Given the description of an element on the screen output the (x, y) to click on. 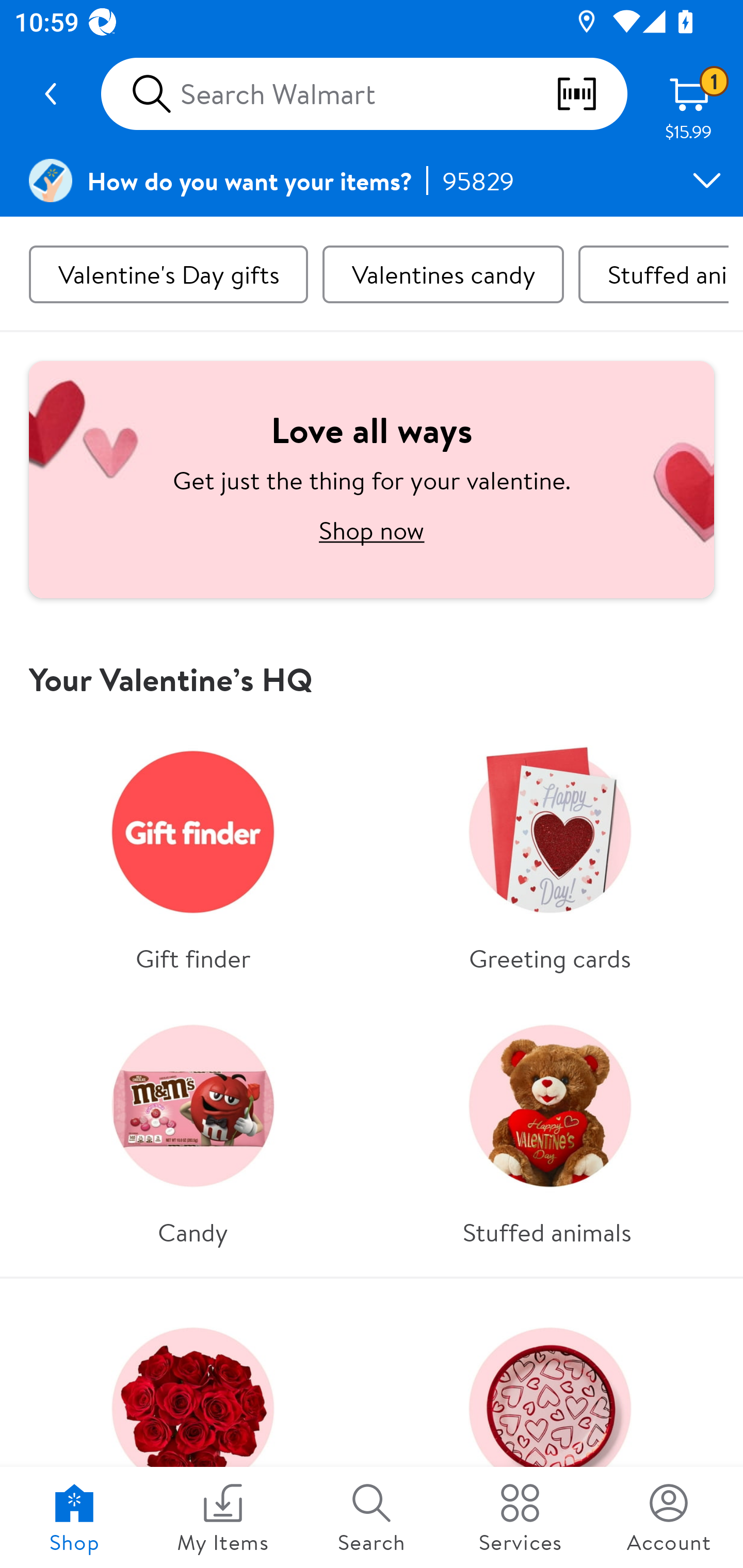
Navigate up (50, 93)
Search Walmart scan barcodes qr codes and more (364, 94)
scan barcodes qr codes and more (591, 94)
Valentine's Day gifts (168, 274)
Valentines candy (442, 274)
Stuffed animals (653, 274)
Shop now (371, 529)
Gift finder (192, 852)
Greeting cards (549, 852)
Candy (192, 1127)
Stuffed animals  (549, 1127)
Flowers (192, 1429)
Party supplies (549, 1429)
My Items (222, 1517)
Search (371, 1517)
Services (519, 1517)
Account (668, 1517)
